Given the description of an element on the screen output the (x, y) to click on. 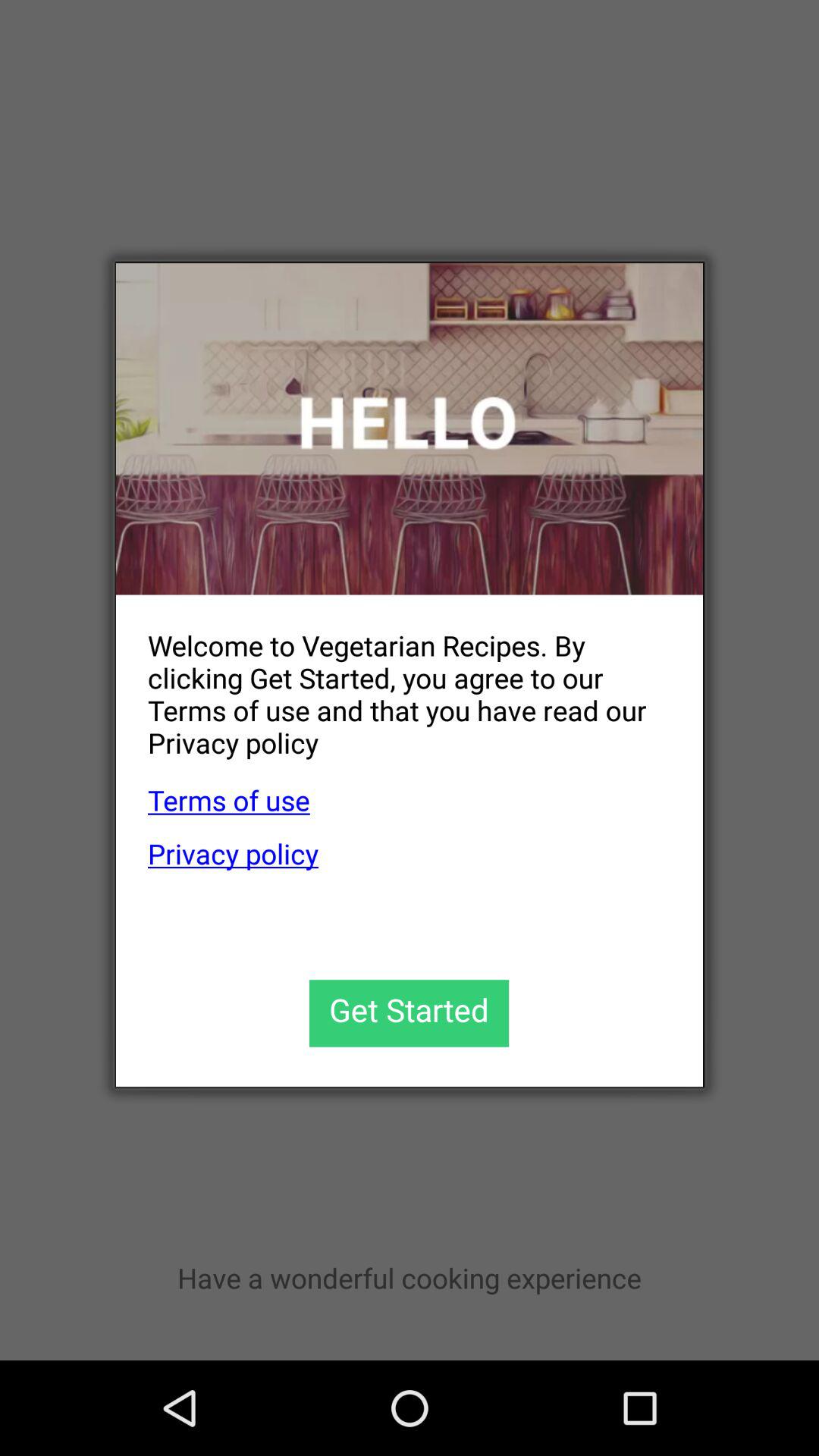
open app above terms of use app (393, 681)
